Given the description of an element on the screen output the (x, y) to click on. 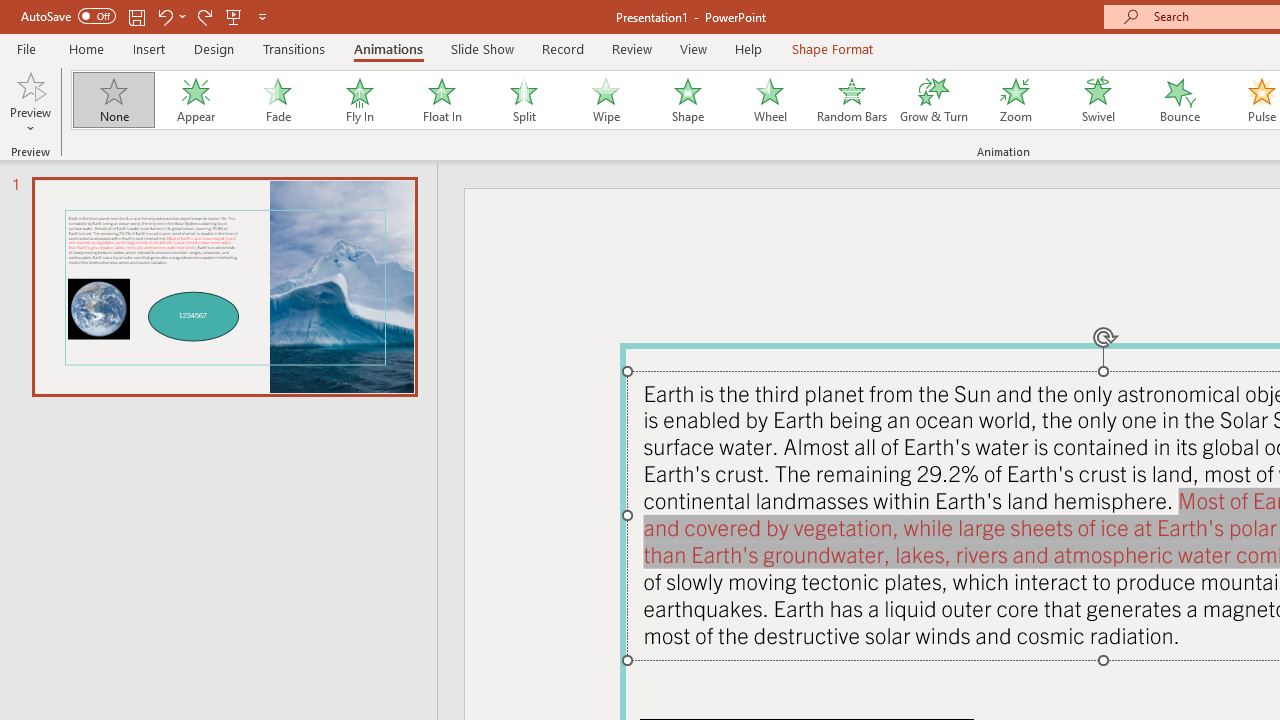
Fly In (359, 100)
